Given the description of an element on the screen output the (x, y) to click on. 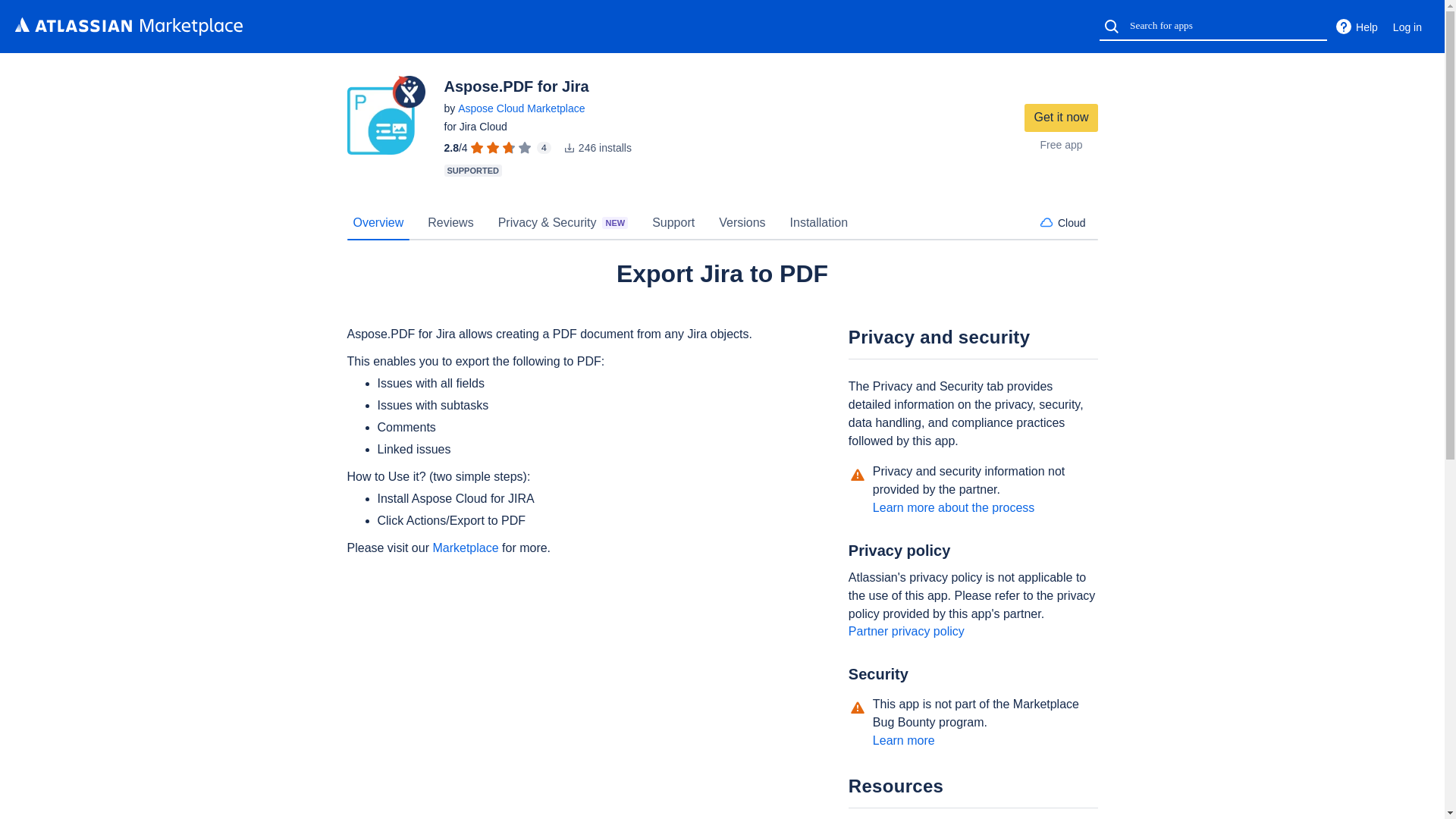
Atlassian Marketplace (128, 26)
Learn more (903, 739)
Partner privacy policy (905, 631)
Marketplace (464, 547)
Help (1356, 26)
Get it now (1061, 117)
Log in (1407, 26)
Learn more about the process (952, 507)
Aspose Cloud Marketplace (521, 108)
